Given the description of an element on the screen output the (x, y) to click on. 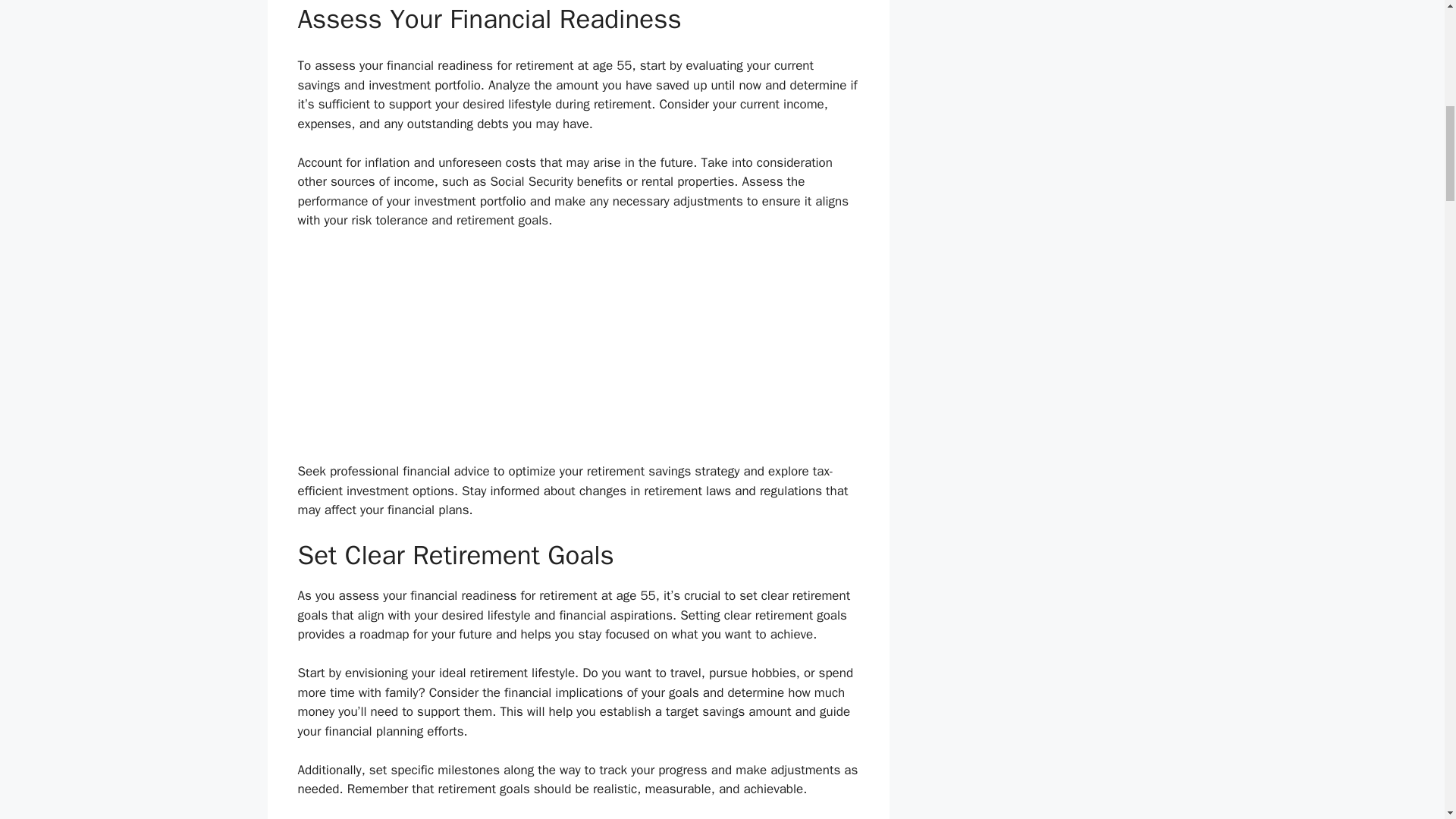
Advertisement (578, 355)
